Given the description of an element on the screen output the (x, y) to click on. 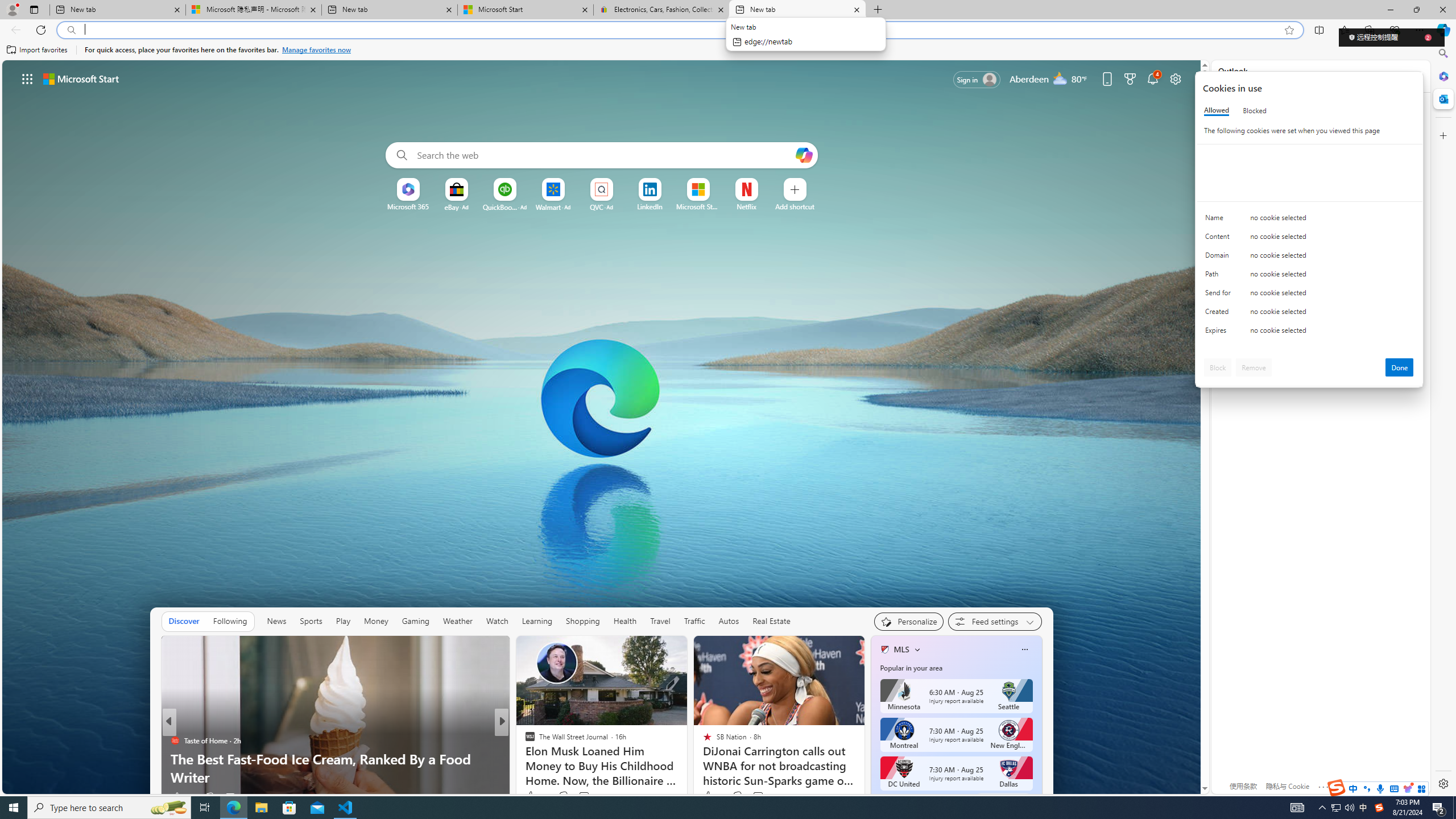
Real Estate (771, 621)
Gaming (415, 621)
View comments 10 Comment (582, 796)
Add a site (793, 206)
Import favorites (36, 49)
Shopping (583, 621)
Traffic (694, 621)
Class: icon-img (1024, 649)
GOBankingRates (524, 740)
